Given the description of an element on the screen output the (x, y) to click on. 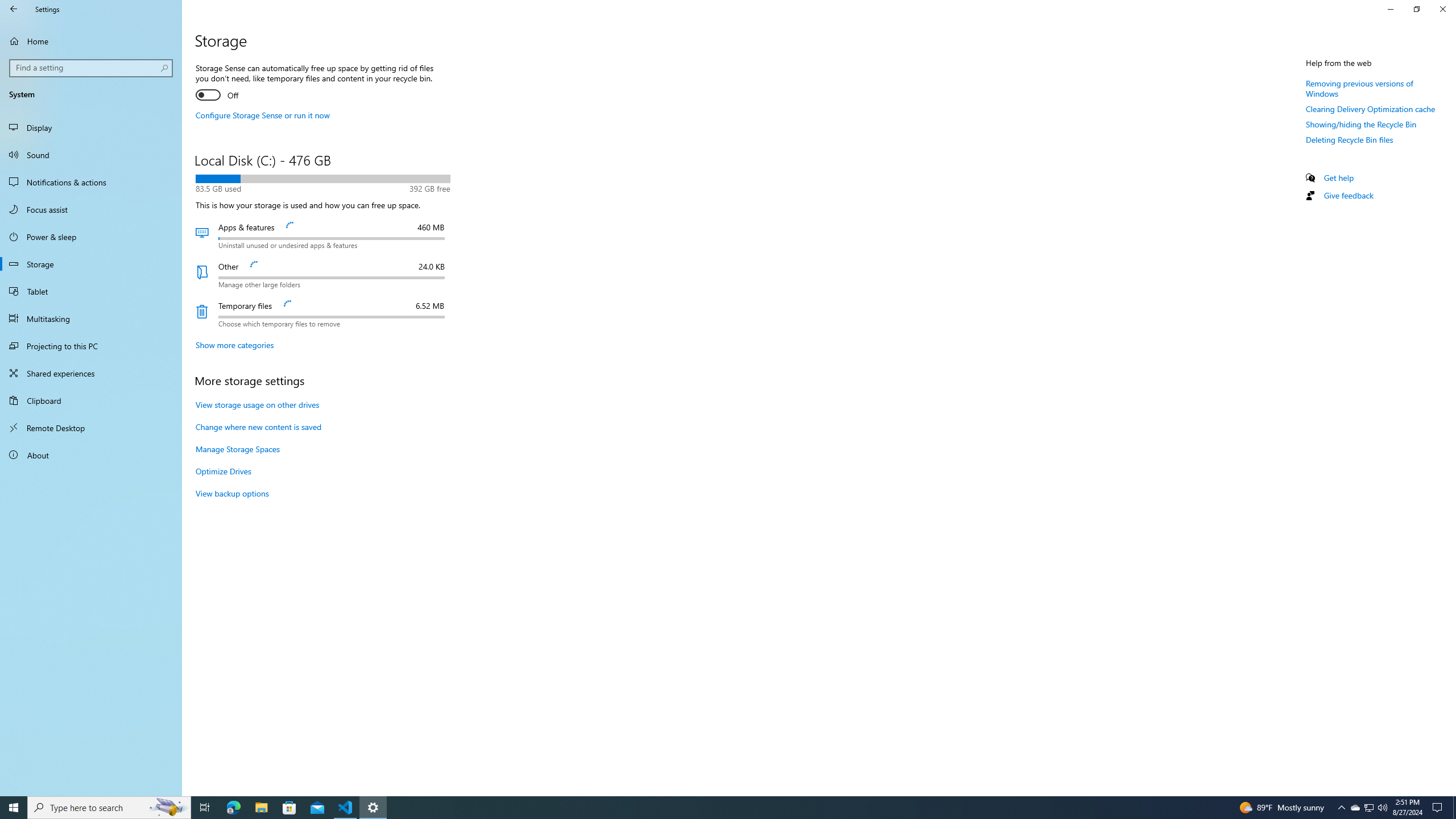
Power & sleep (91, 236)
Start (13, 807)
Apps & features (322, 235)
Focus assist (91, 208)
Action Center, No new notifications (1439, 807)
Microsoft Edge (233, 807)
Other (322, 274)
Notification Chevron (1341, 807)
Multitasking (91, 318)
Other (322, 274)
Q2790: 100% (1382, 807)
Showing/hiding the Recycle Bin (1361, 123)
Temporary files (322, 314)
Search highlights icon opens search home window (167, 807)
